Given the description of an element on the screen output the (x, y) to click on. 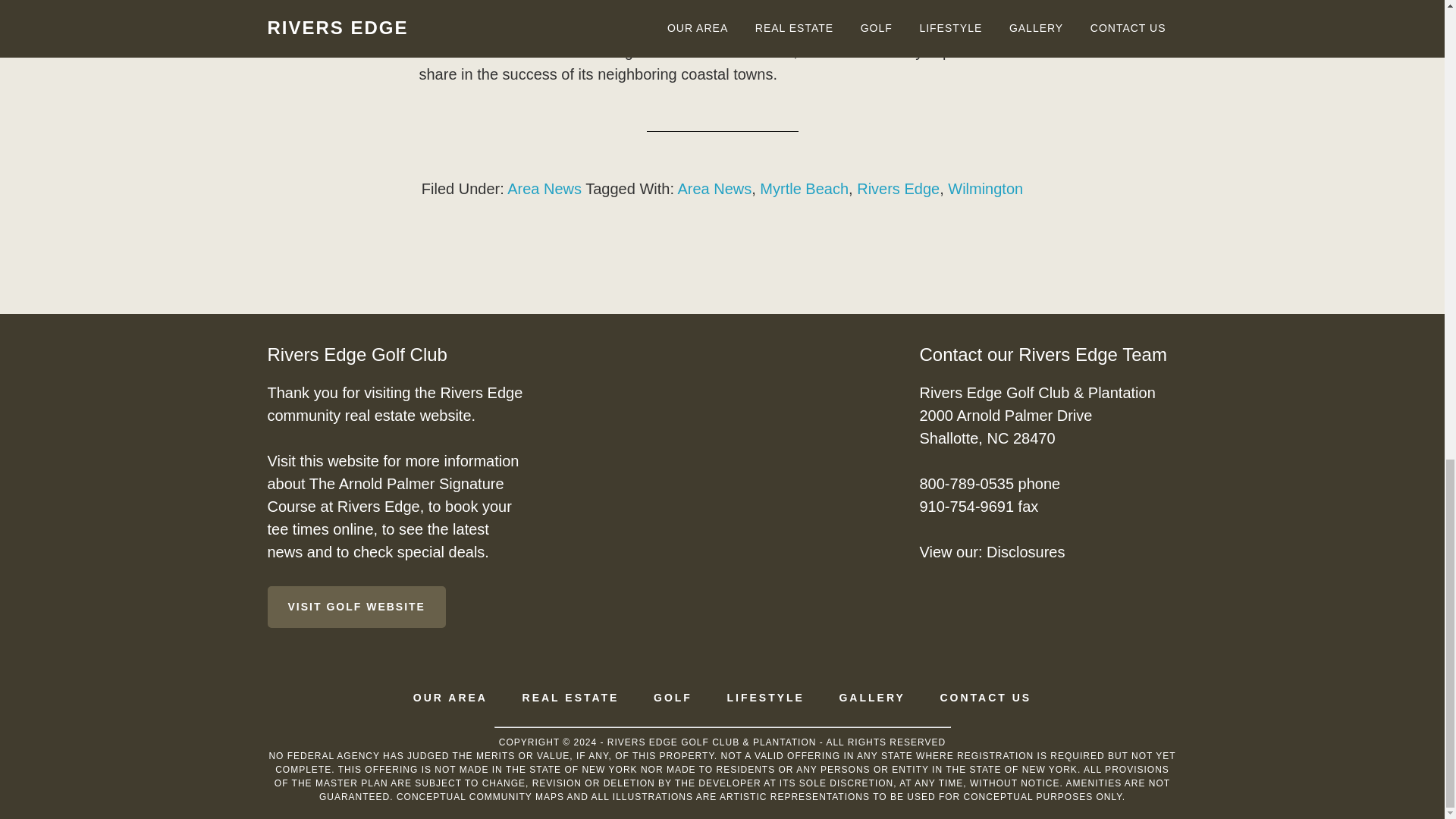
Disclosures (1025, 551)
OUR AREA (450, 697)
VISIT GOLF WEBSITE (355, 607)
REAL ESTATE (571, 697)
GOLF (673, 697)
Area News (543, 188)
Wilmington (985, 188)
GALLERY (871, 697)
Area News (714, 188)
Rivers Edge (898, 188)
